Given the description of an element on the screen output the (x, y) to click on. 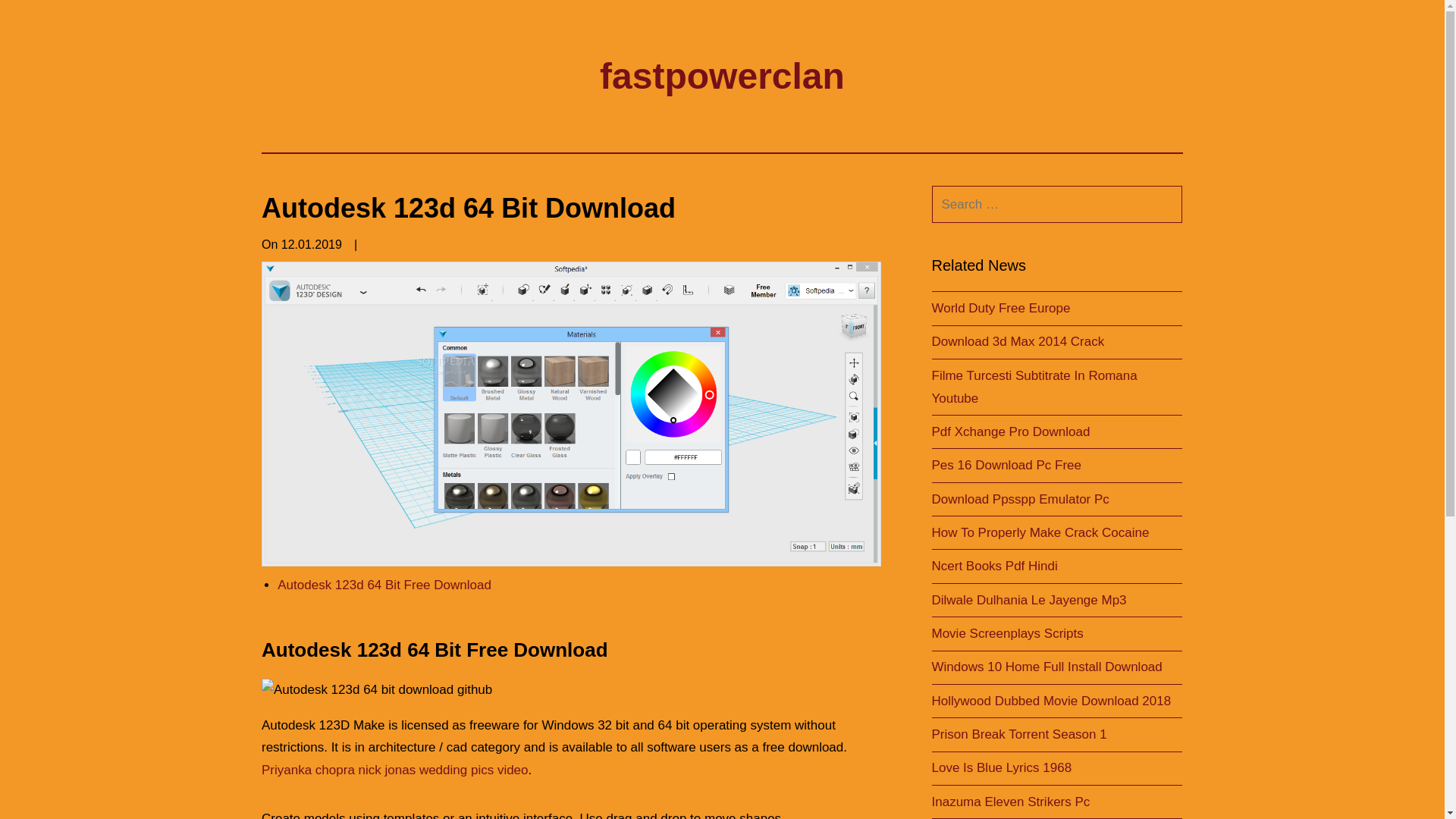
Download Ppsspp Emulator Pc (1019, 499)
Hollywood Dubbed Movie Download 2018 (1050, 700)
Prison Break Torrent Season 1 (1018, 734)
Autodesk 123d 64 bit download github (377, 689)
Filme Turcesti Subtitrate In Romana Youtube (1034, 386)
Pdf Xchange Pro Download (1010, 431)
Priyanka chopra nick jonas wedding pics video (395, 769)
Love Is Blue Lyrics 1968 (1001, 767)
Movie Screenplays Scripts (1007, 633)
